Given the description of an element on the screen output the (x, y) to click on. 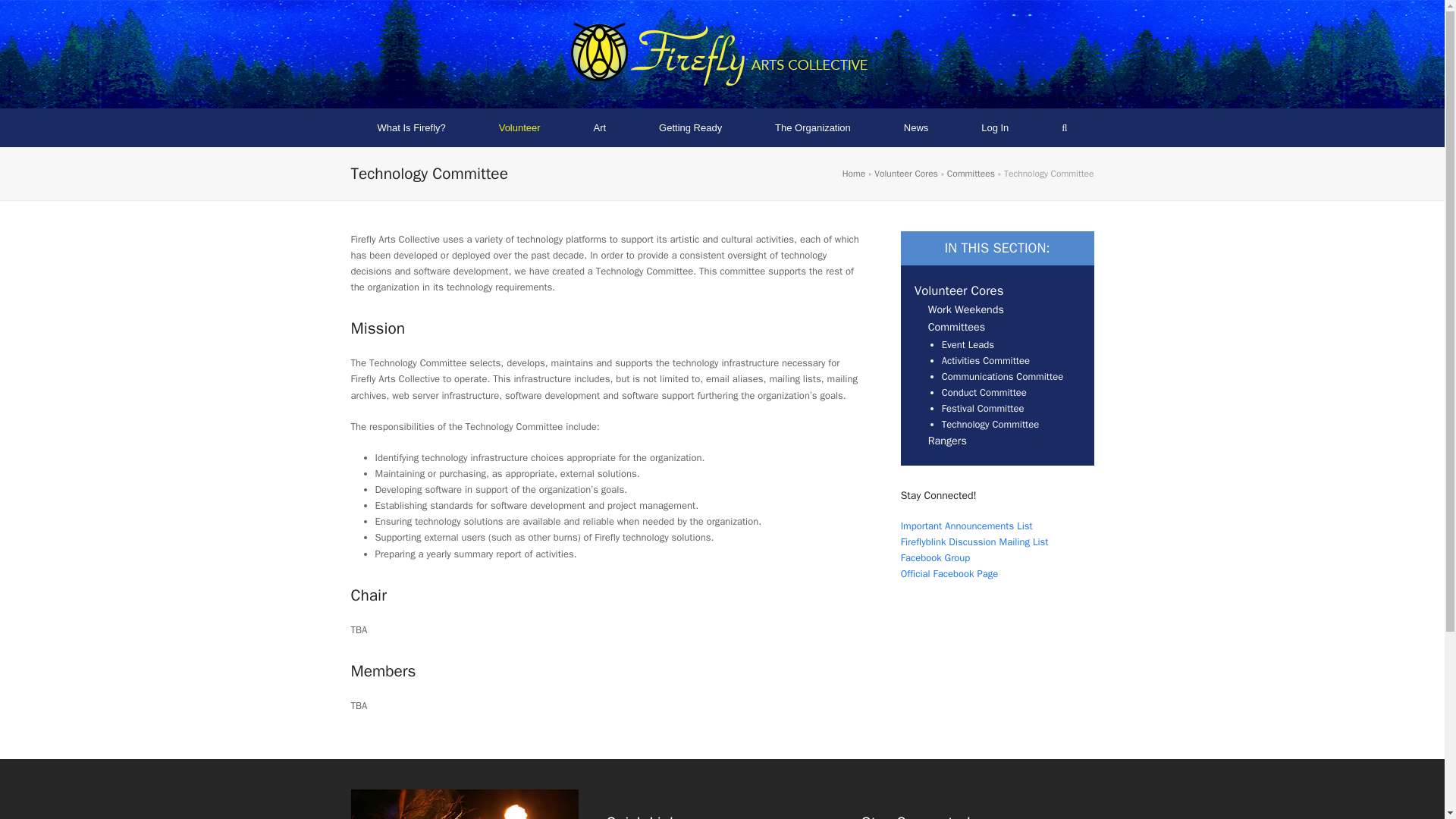
What Is Firefly? (410, 127)
Art (600, 127)
Volunteer (519, 127)
